Given the description of an element on the screen output the (x, y) to click on. 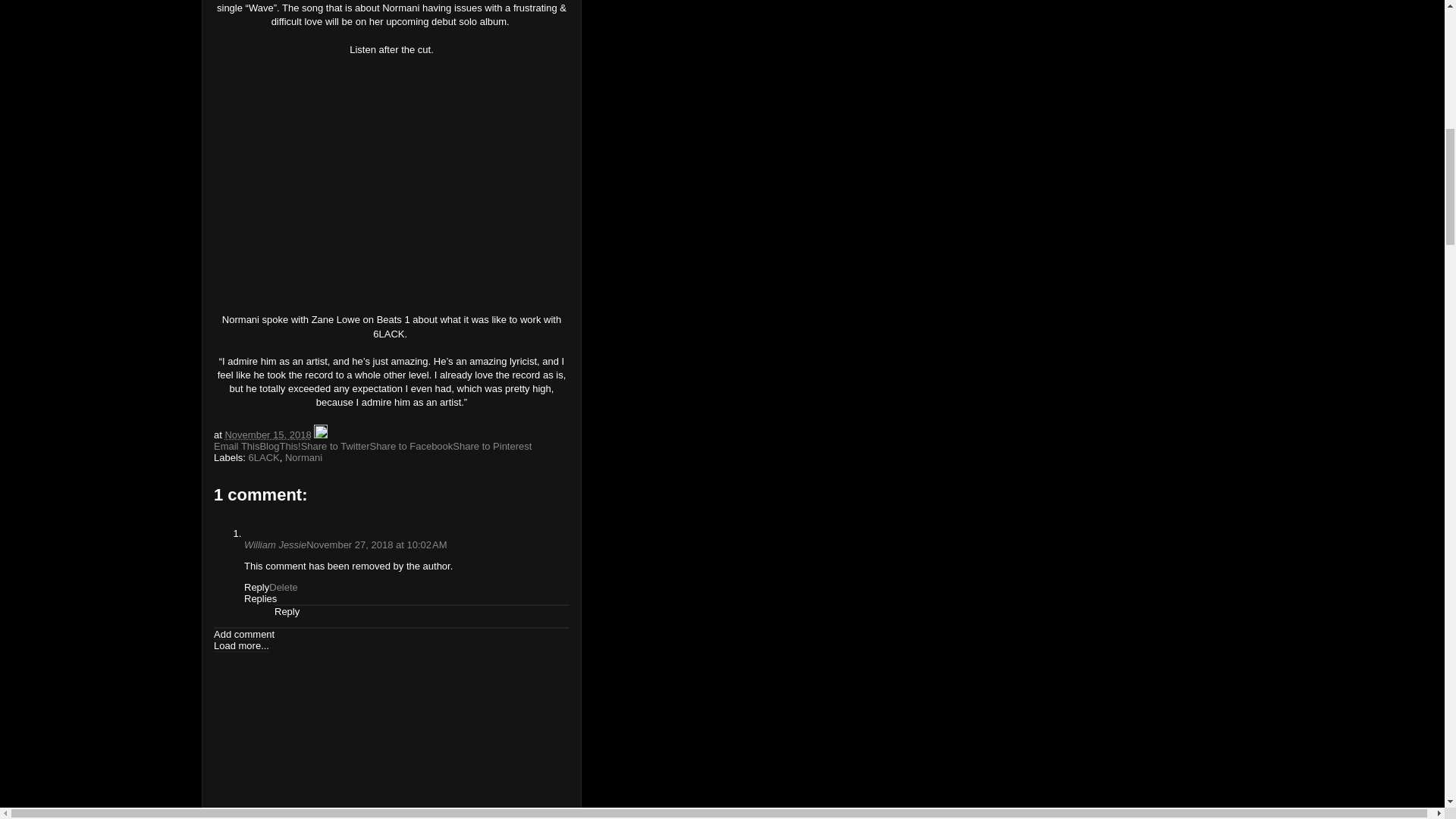
Email This (236, 446)
BlogThis! (279, 446)
Normani (303, 457)
Load more... (241, 645)
Reply (287, 611)
November 15, 2018 (267, 434)
Email This (236, 446)
Add comment (244, 633)
BlogThis! (279, 446)
Share to Pinterest (491, 446)
Share to Facebook (410, 446)
Share to Facebook (410, 446)
6LACK (263, 457)
Share to Twitter (335, 446)
